Given the description of an element on the screen output the (x, y) to click on. 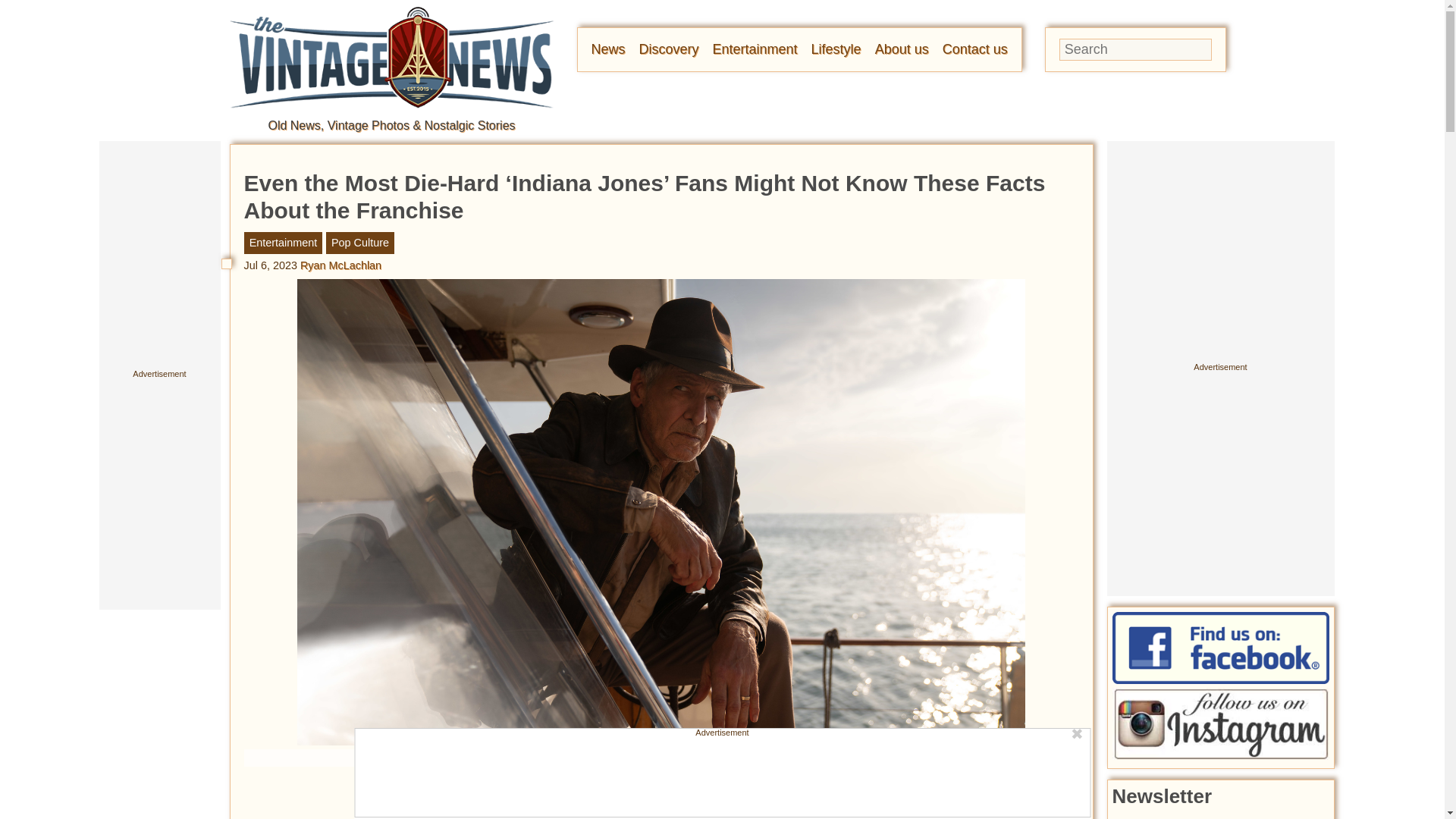
About us (901, 48)
Contact us (974, 48)
Discovery (668, 48)
Lifestyle (835, 48)
News (608, 48)
Entertainment (755, 48)
